Given the description of an element on the screen output the (x, y) to click on. 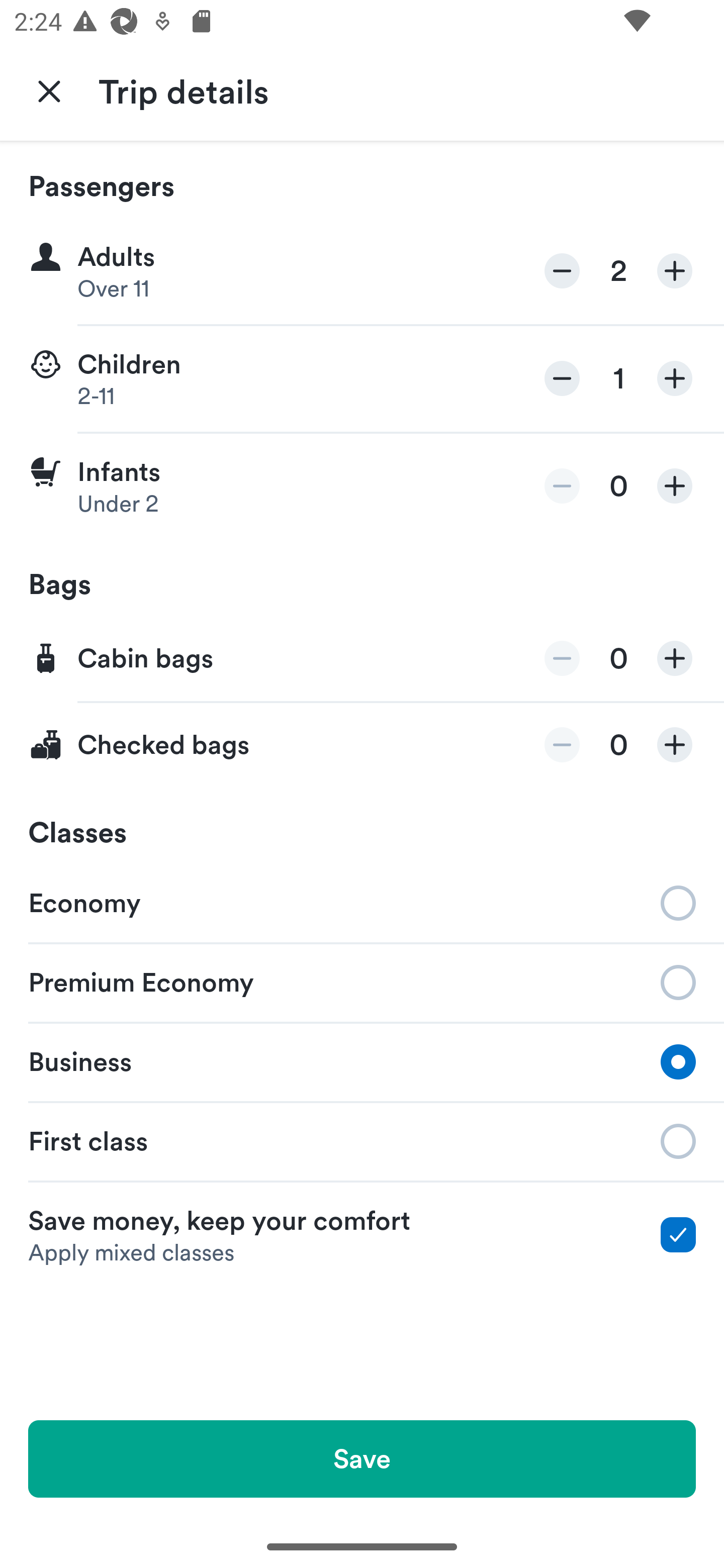
Navigate up (49, 90)
Remove 2 Add Adults Over 11 (362, 271)
Remove (561, 270)
Add (674, 270)
Remove 1 Add Children 2-11 (362, 379)
Remove (561, 377)
Add (674, 377)
Remove 0 Add Infants Under 2 (362, 485)
Remove (561, 485)
Add (674, 485)
Remove 0 Add Cabin bags (362, 659)
Remove (561, 658)
Add (674, 658)
Remove 0 Add Checked bags (362, 744)
Remove (561, 744)
Add (674, 744)
Economy (362, 901)
Premium Economy (362, 980)
First class (362, 1141)
Save (361, 1458)
